Given the description of an element on the screen output the (x, y) to click on. 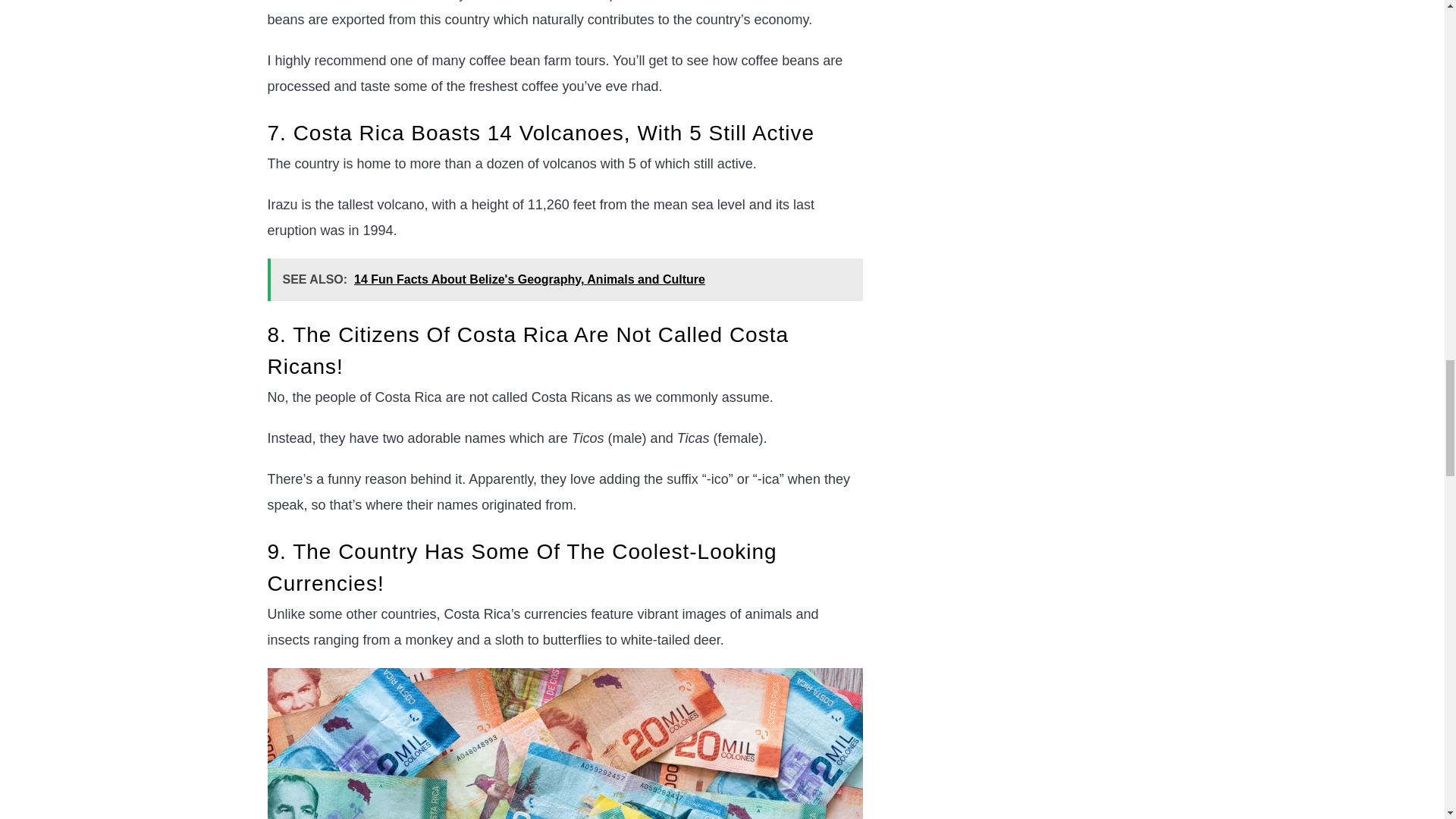
14 Fun Facts About Costa Rica To Experience True Paradise 3 (563, 743)
